Given the description of an element on the screen output the (x, y) to click on. 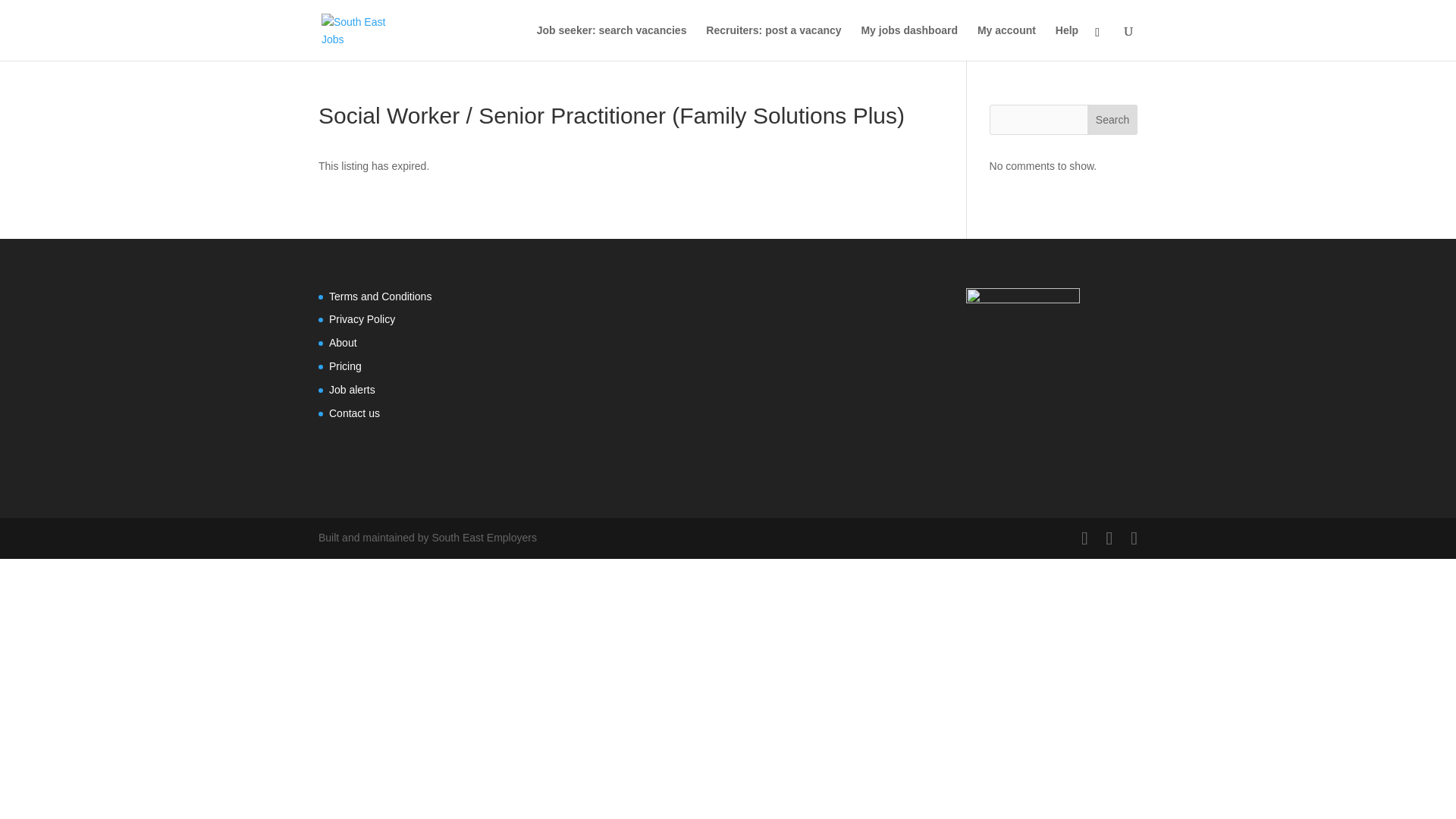
Job seeker: search vacancies (612, 42)
Search (1112, 119)
Terms and Conditions (379, 296)
Job alerts (352, 389)
About (342, 342)
Pricing (345, 366)
Recruiters: post a vacancy (773, 42)
Privacy Policy (361, 318)
Contact us (354, 413)
My account (1005, 42)
